Given the description of an element on the screen output the (x, y) to click on. 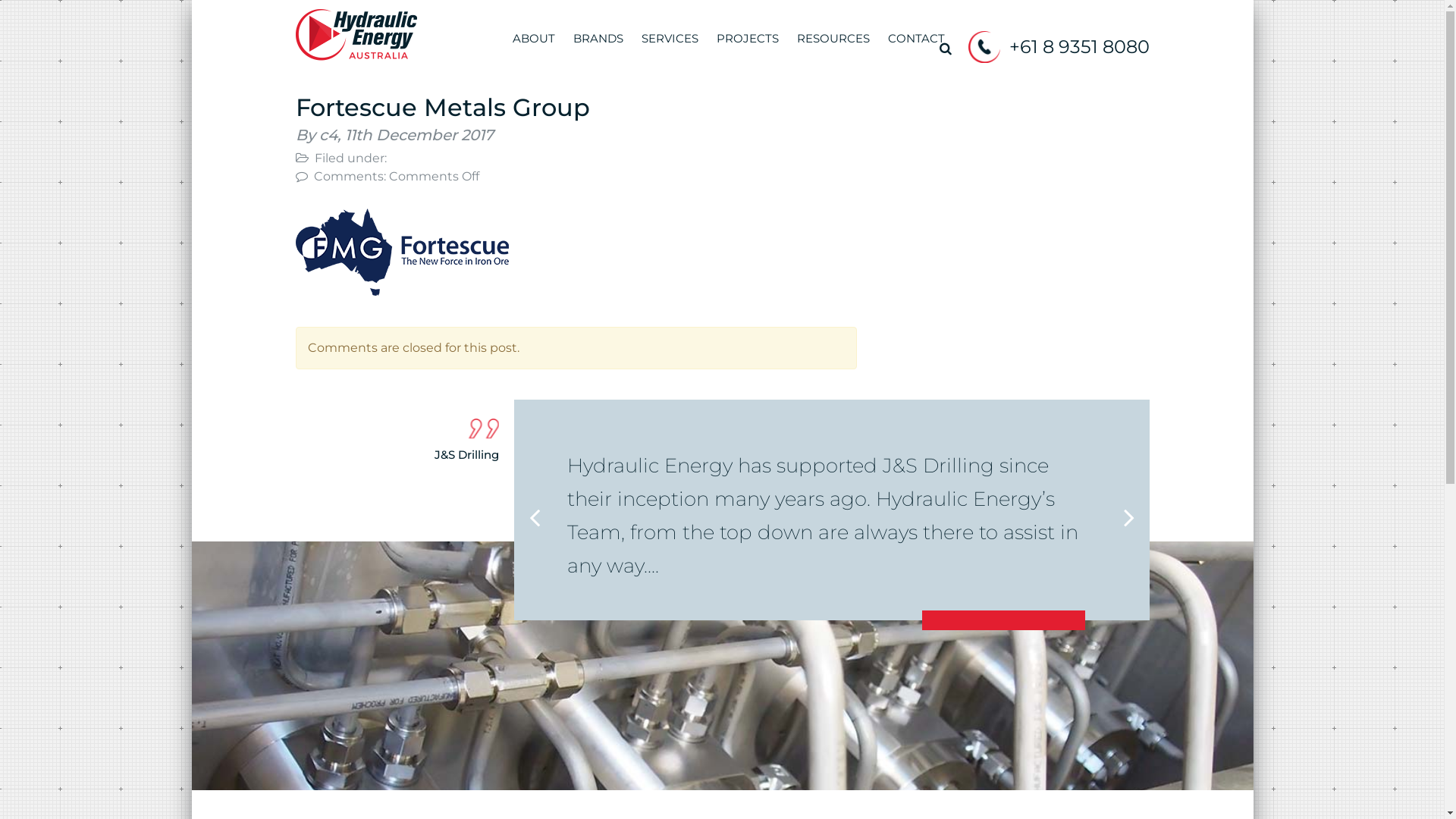
ABOUT Element type: text (533, 44)
+61 8 9351 8080 Element type: text (1078, 46)
BRANDS Element type: text (597, 44)
Hydraulic Energy Australia Element type: hover (356, 33)
CONTACT Element type: text (916, 44)
RESOURCES Element type: text (833, 44)
SERVICES Element type: text (668, 44)
PROJECTS Element type: text (747, 44)
Search Element type: text (944, 48)
